Given the description of an element on the screen output the (x, y) to click on. 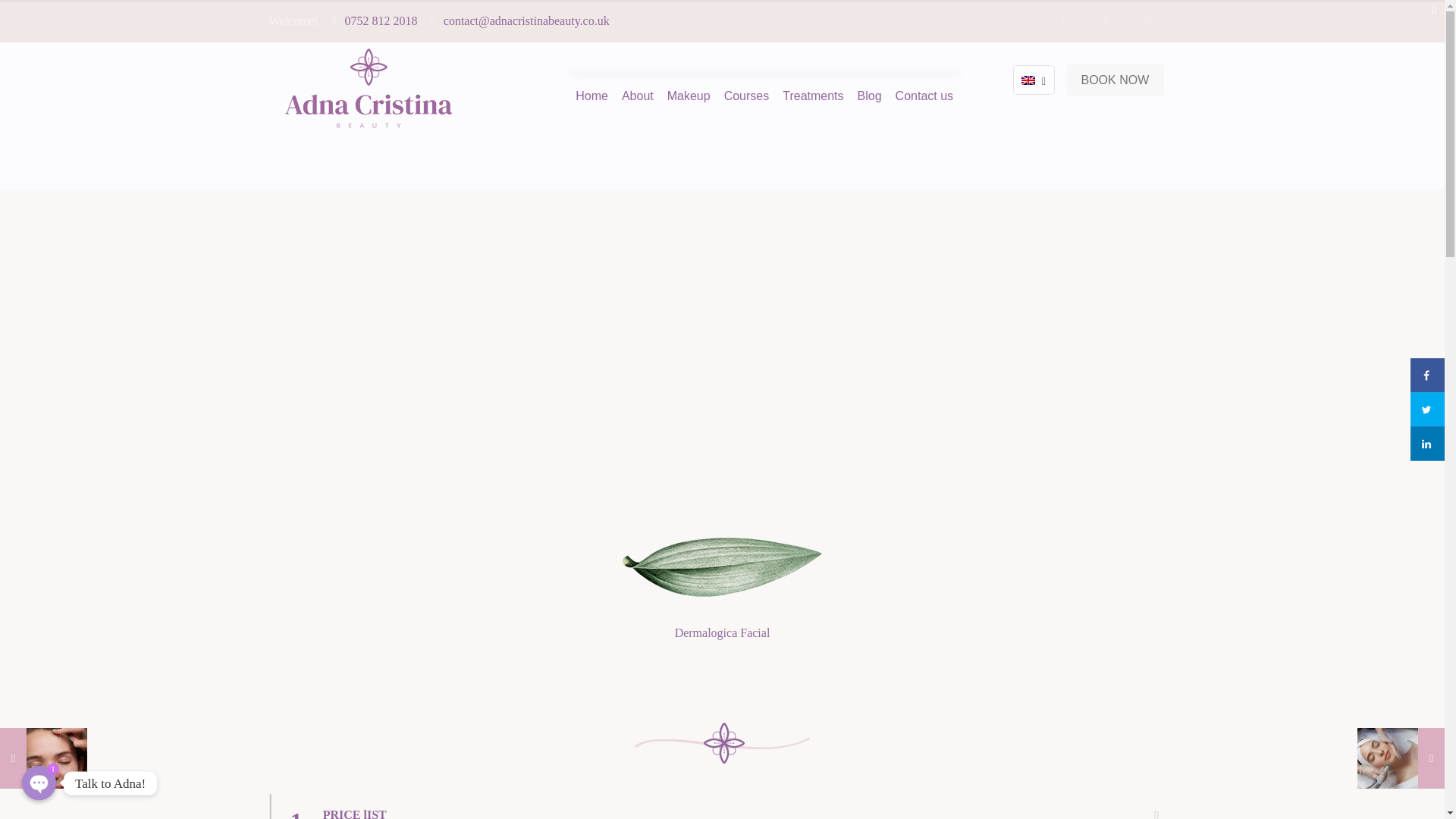
LinkedIn (1126, 20)
Home (591, 95)
Adna Cristina (367, 87)
Treatments (813, 95)
Snapchat (1166, 20)
Twitter (1085, 20)
Instagram (1146, 20)
BOOK NOW (1114, 79)
Courses (746, 95)
About (637, 95)
